Given the description of an element on the screen output the (x, y) to click on. 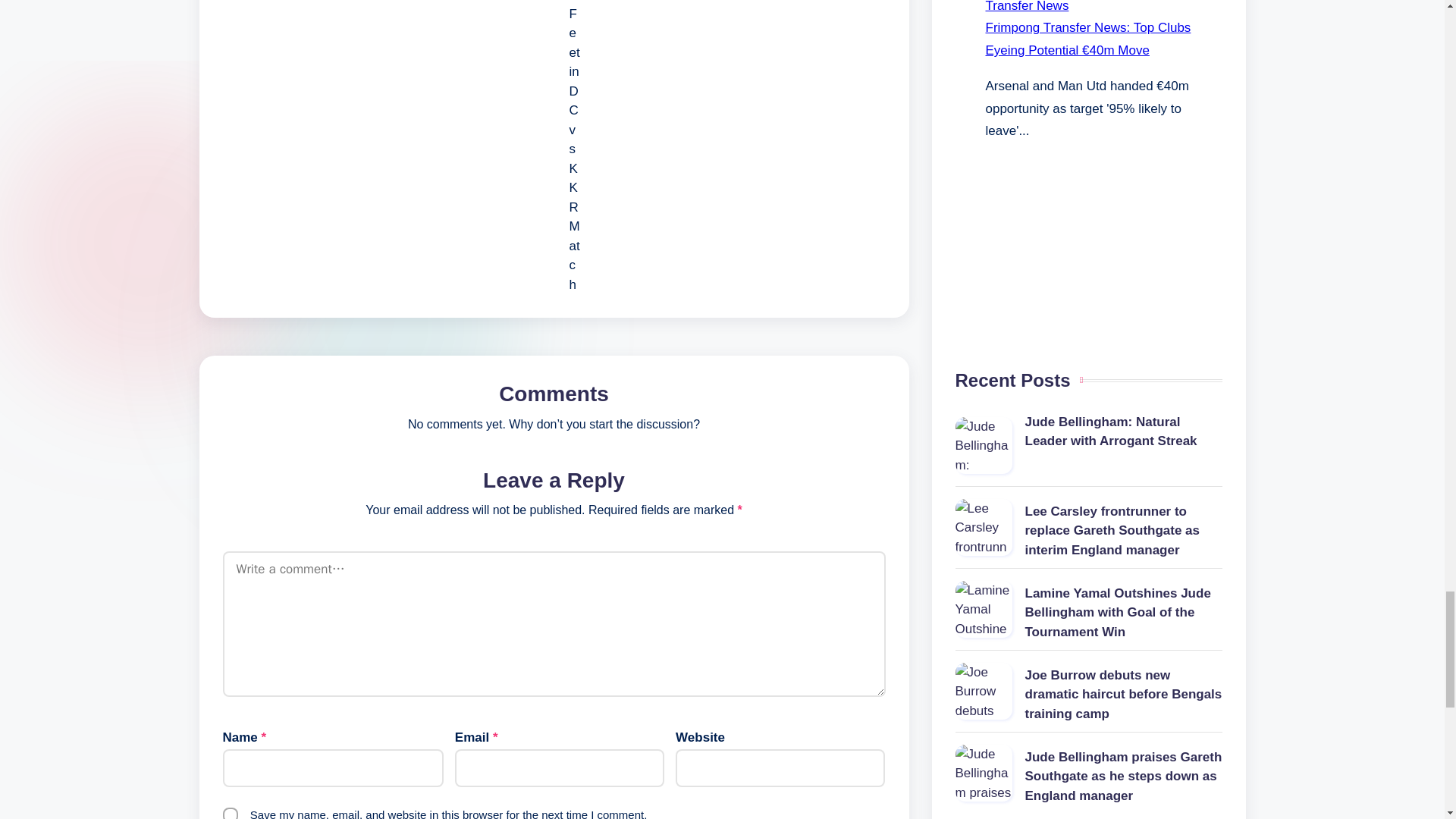
yes (230, 813)
